Given the description of an element on the screen output the (x, y) to click on. 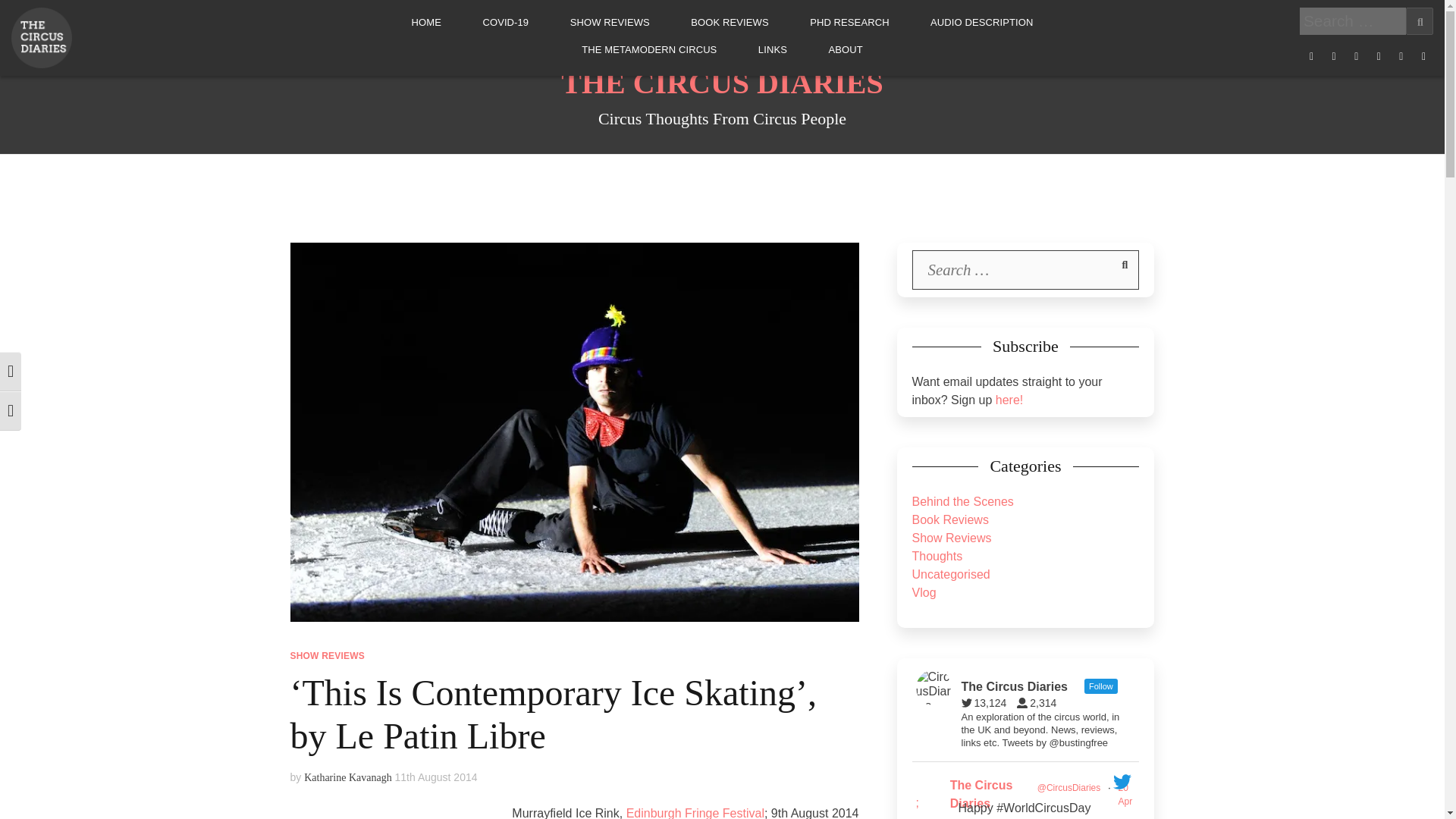
ABOUT (844, 49)
SHOW REVIEWS (609, 22)
LINKS (772, 49)
BOOK REVIEWS (729, 22)
Katharine Kavanagh (347, 777)
AUDIO DESCRIPTION (981, 22)
2,314 Followers (1040, 702)
13,124 Tweets (987, 702)
THE CIRCUS DIARIES (721, 82)
HOME (426, 22)
COVID-19 (505, 22)
SHOW REVIEWS (326, 655)
THE METAMODERN CIRCUS (648, 49)
PHD RESEARCH (849, 22)
